Given the description of an element on the screen output the (x, y) to click on. 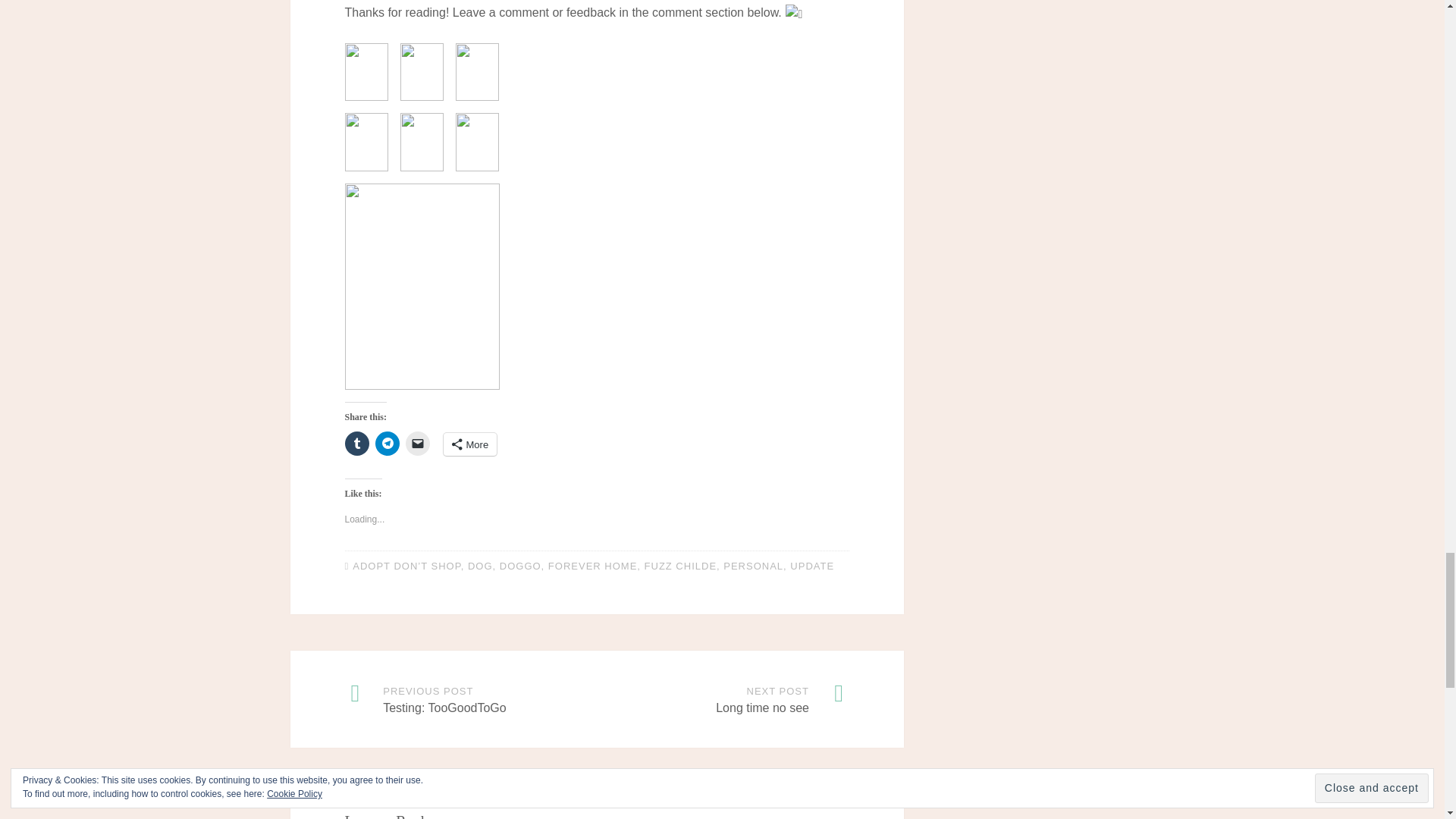
More (469, 444)
PERSONAL (753, 565)
FUZZ CHILDE (681, 565)
Click to email a link to a friend (416, 443)
Click to share on Tumblr (355, 443)
DOGGO (520, 565)
UPDATE (812, 565)
FOREVER HOME (592, 565)
DOG (480, 565)
Click to share on Telegram (386, 443)
